Given the description of an element on the screen output the (x, y) to click on. 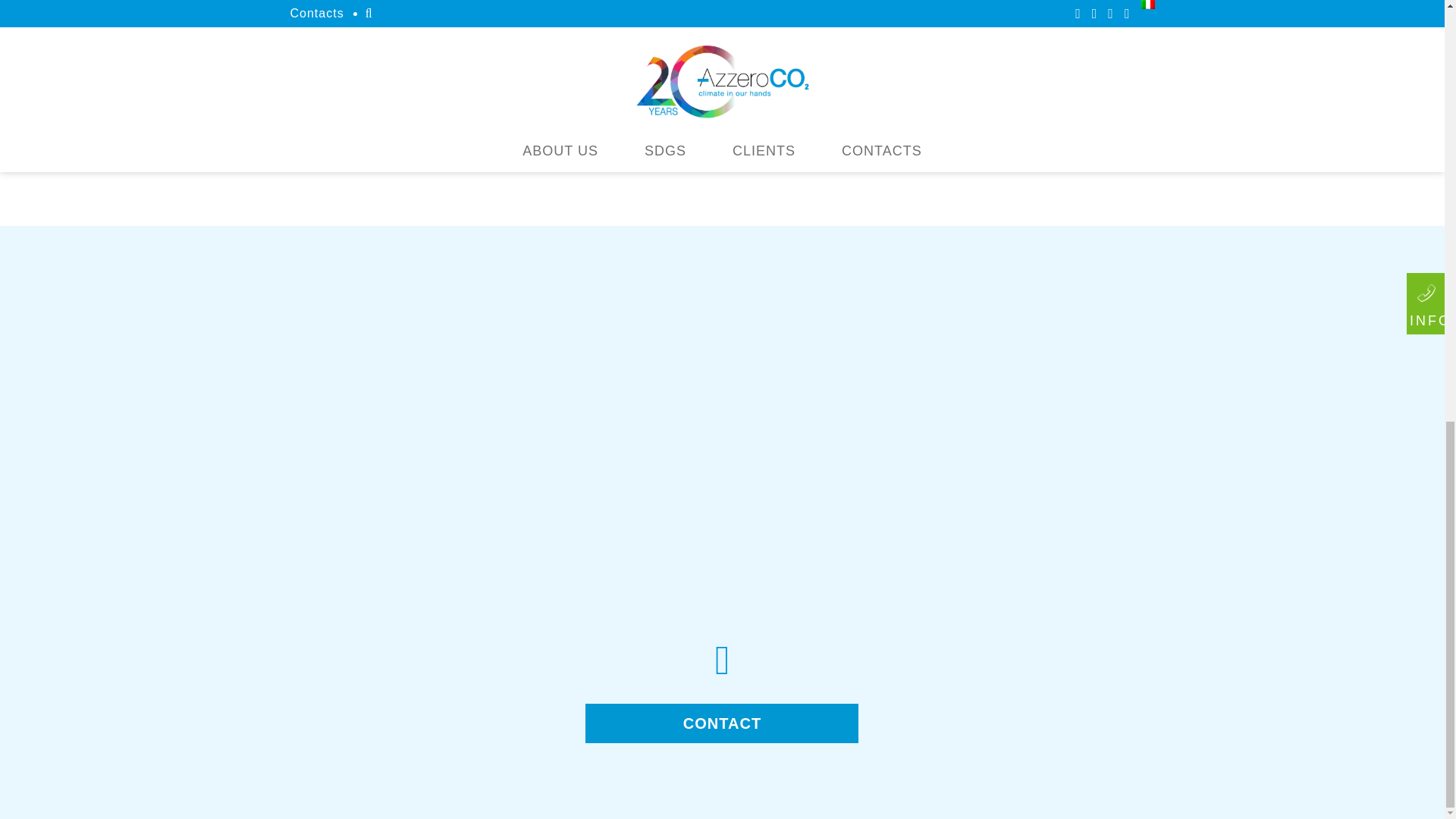
CONTACT (722, 722)
